Given the description of an element on the screen output the (x, y) to click on. 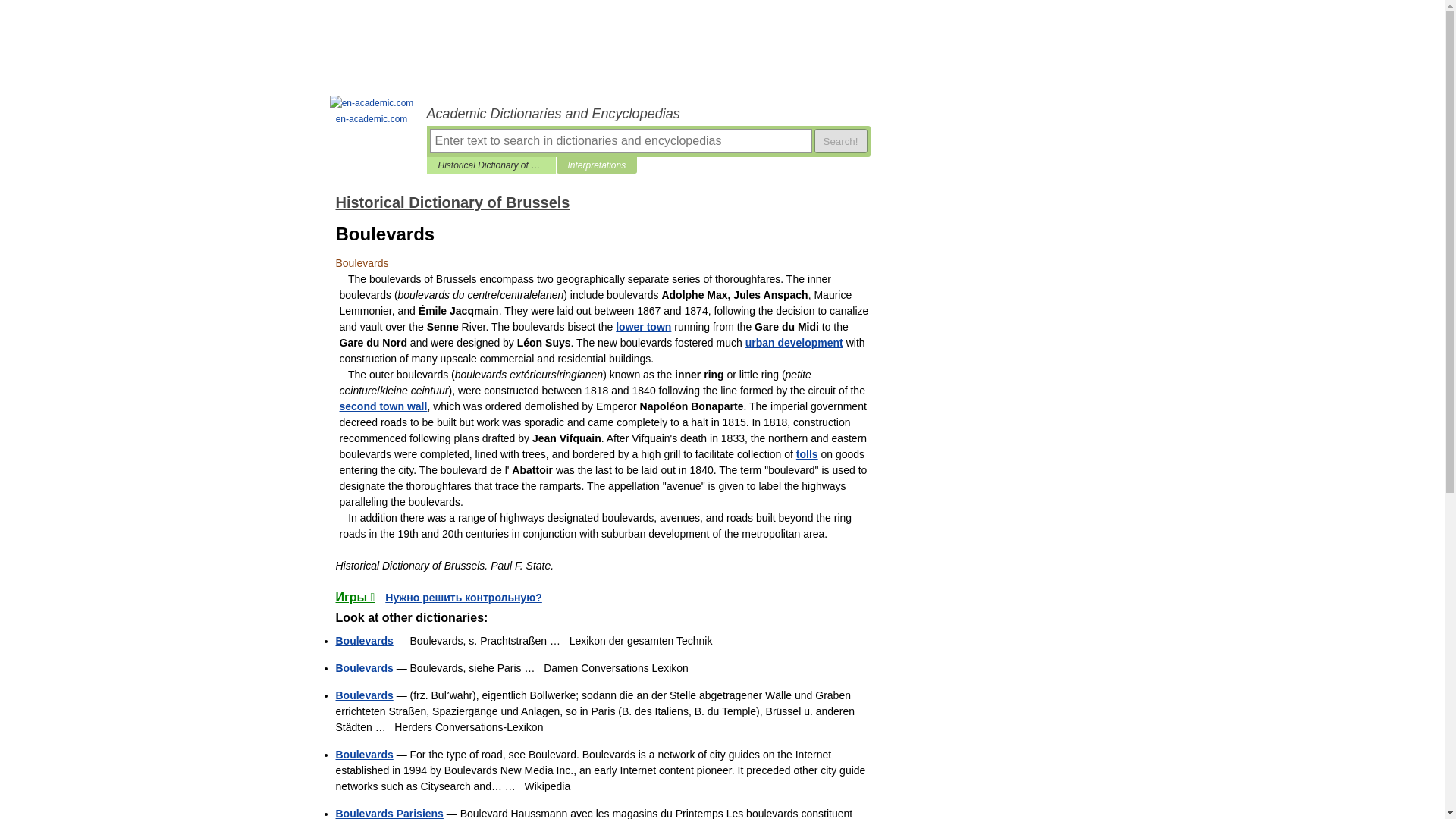
Boulevards (363, 667)
lower town (643, 326)
Boulevards Parisiens (388, 813)
Historical Dictionary of Brussels (451, 202)
en-academic.com (371, 111)
Enter text to search in dictionaries and encyclopedias (619, 140)
Boulevards (363, 640)
urban development (794, 342)
Boulevards (363, 754)
Academic Dictionaries and Encyclopedias (647, 114)
second town wall (383, 406)
tolls (807, 453)
Interpretations (596, 165)
Historical Dictionary of Brussels (491, 165)
Search! (840, 140)
